Given the description of an element on the screen output the (x, y) to click on. 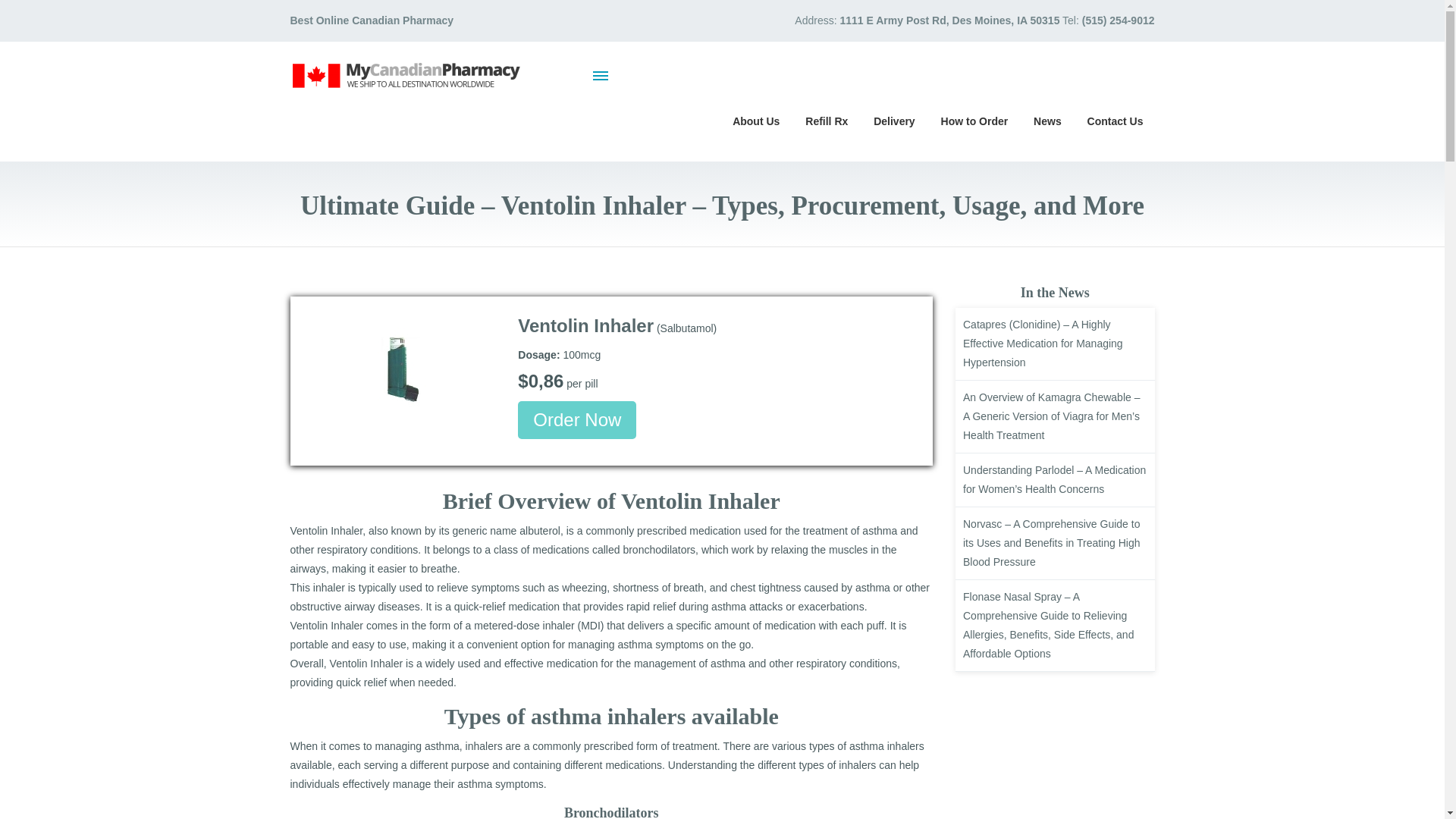
Delivery (893, 119)
Contact Us (1114, 119)
Order Now (577, 419)
News (1047, 119)
How to Order (975, 119)
Menu (600, 75)
About Us (755, 119)
Refill Rx (826, 119)
